Given the description of an element on the screen output the (x, y) to click on. 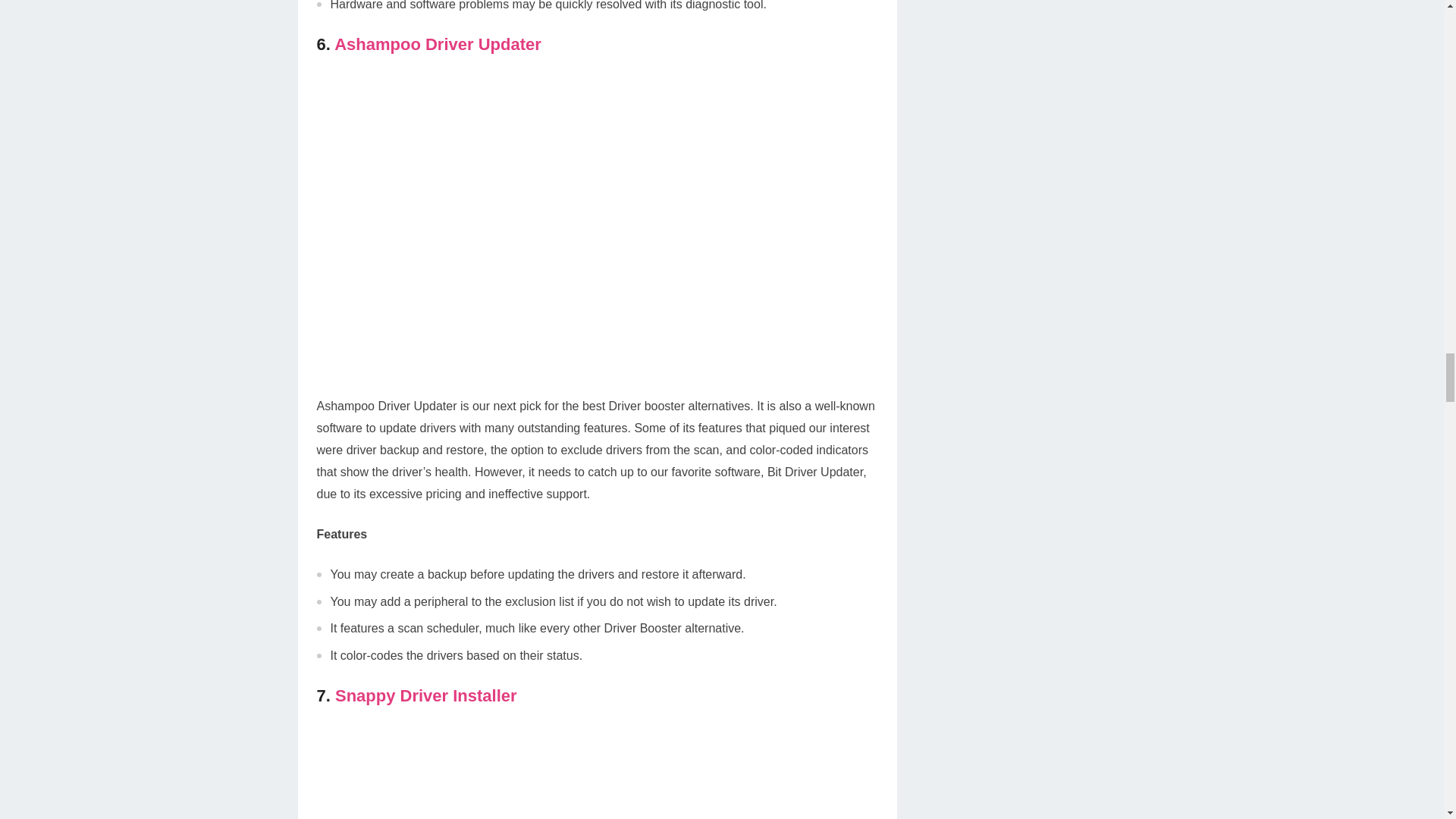
Snappy Driver Installer (425, 695)
Ashampoo Driver Updater (437, 44)
